Given the description of an element on the screen output the (x, y) to click on. 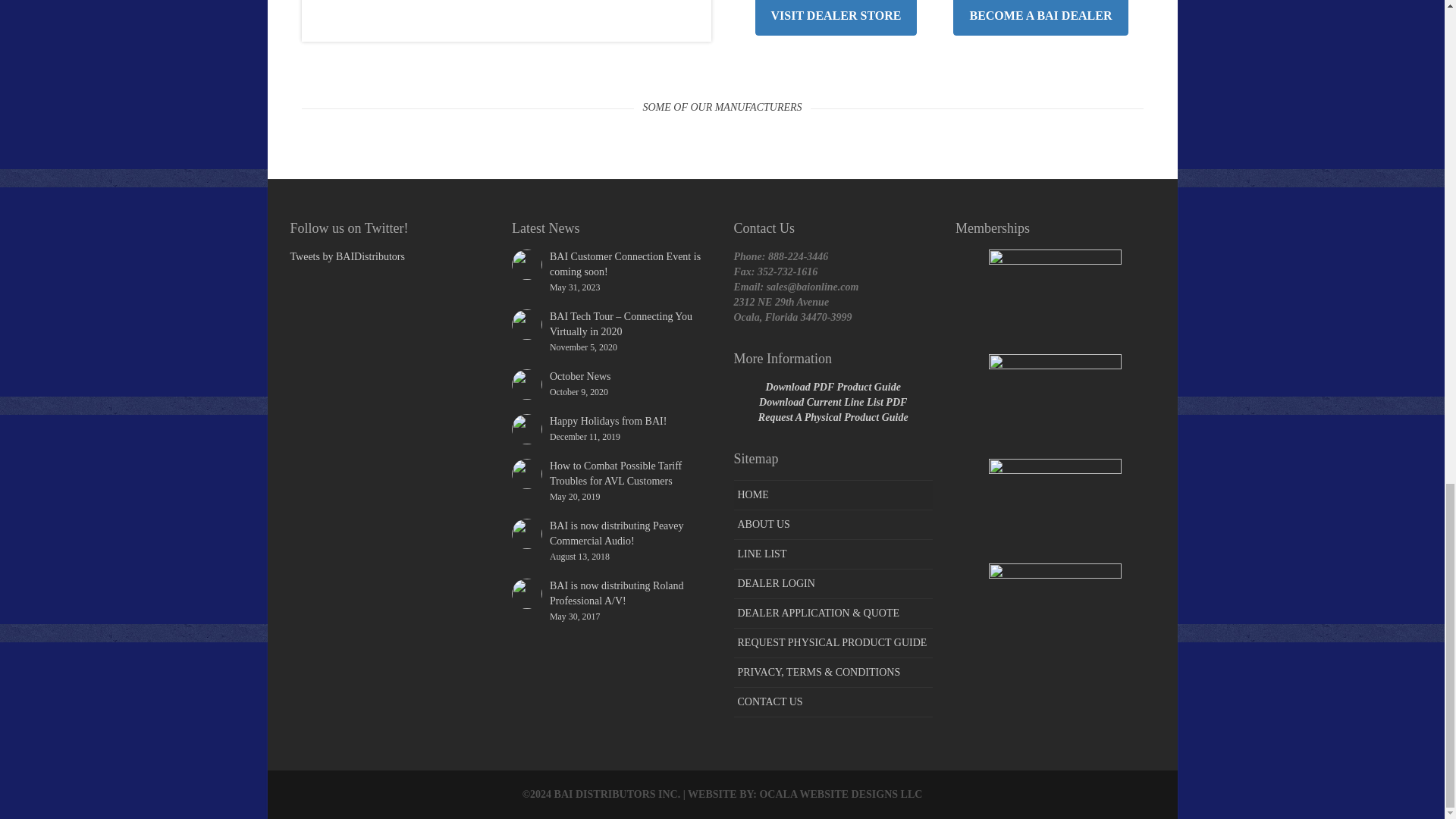
BECOME A BAI DEALER (611, 384)
VISIT DEALER STORE (1039, 17)
Tweets by BAIDistributors (836, 17)
